Given the description of an element on the screen output the (x, y) to click on. 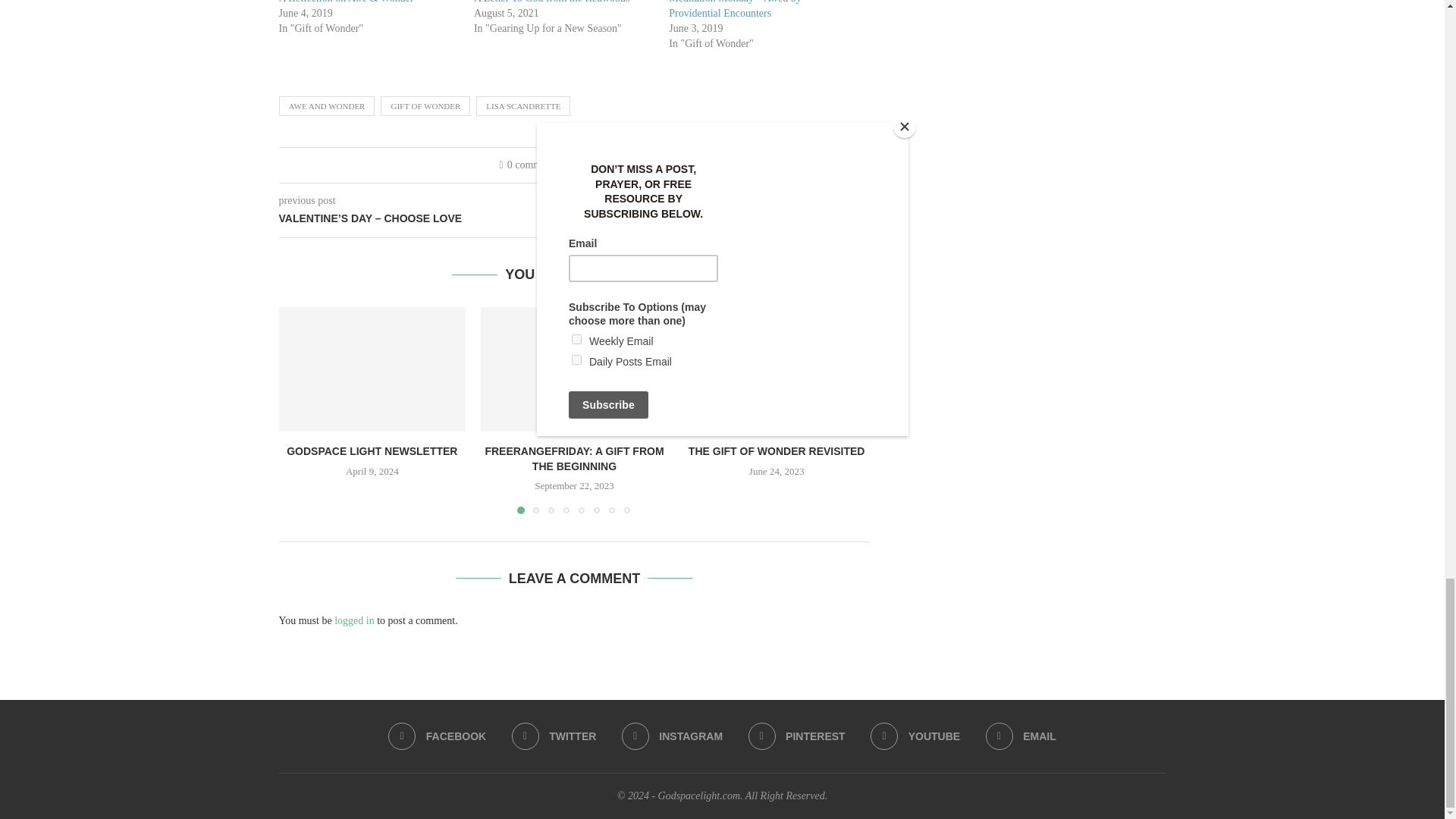
Godspace Light Newsletter (372, 369)
FreerangeFriday: A Gift from the Beginning (574, 369)
A Letter To God from the Redwoods (552, 2)
The Gift of Wonder Revisited (776, 369)
